Given the description of an element on the screen output the (x, y) to click on. 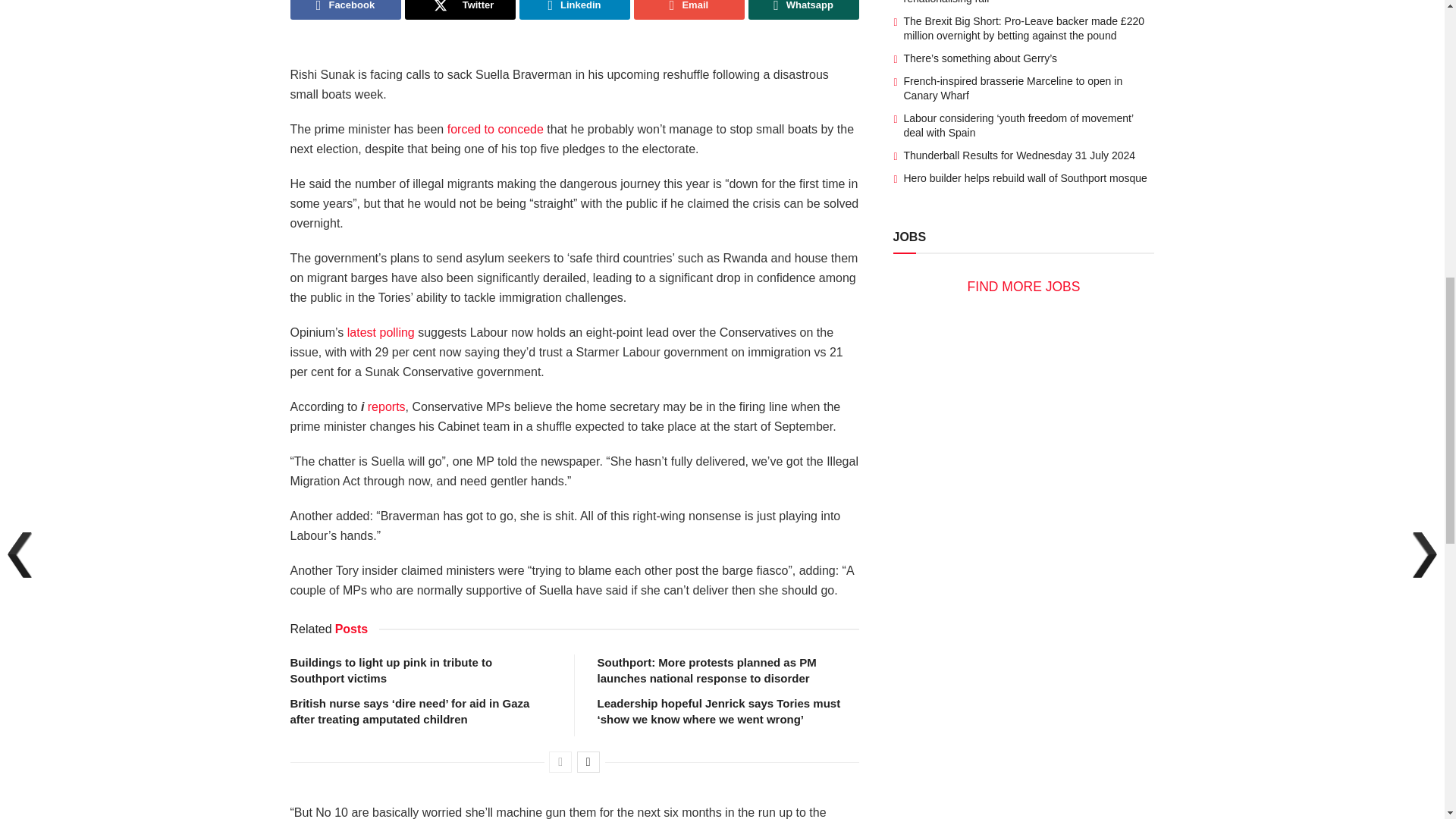
Next (587, 762)
Previous (560, 762)
